Given the description of an element on the screen output the (x, y) to click on. 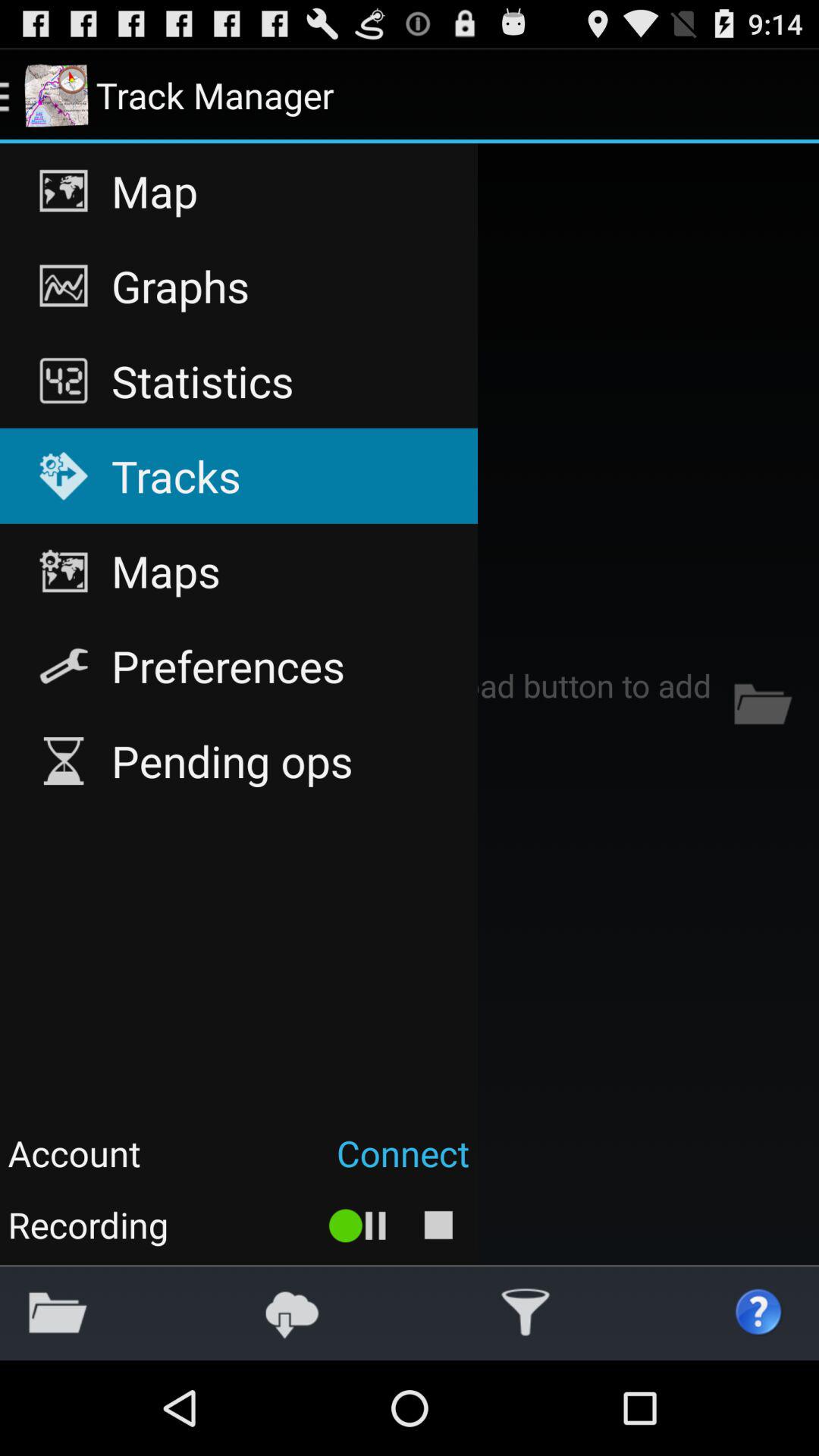
jump until the map app (238, 190)
